Given the description of an element on the screen output the (x, y) to click on. 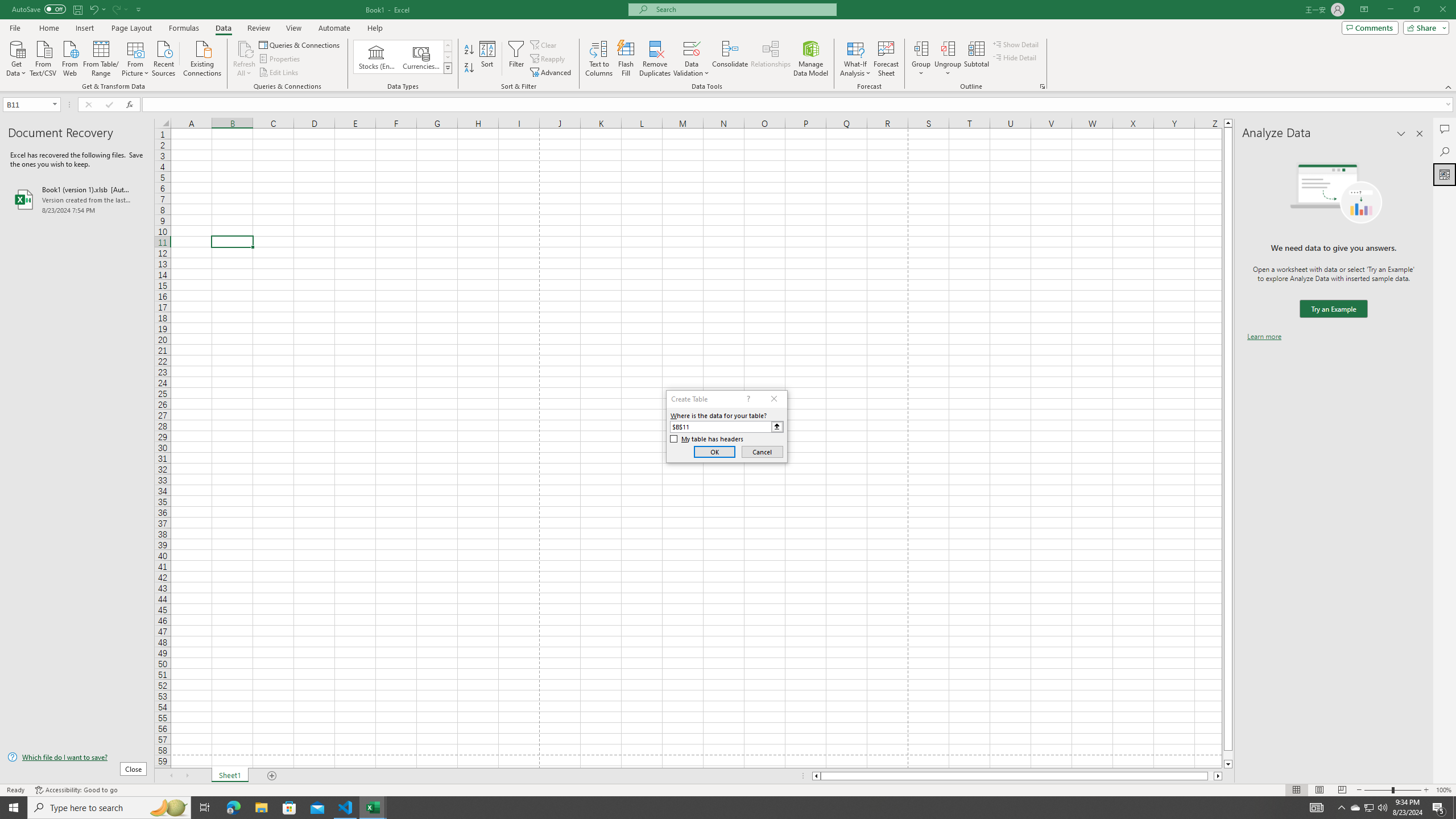
Currencies (English) (420, 56)
Microsoft search (742, 9)
Show Detail (1016, 44)
We need data to give you answers. Try an Example (1333, 308)
Get Data (16, 57)
